Given the description of an element on the screen output the (x, y) to click on. 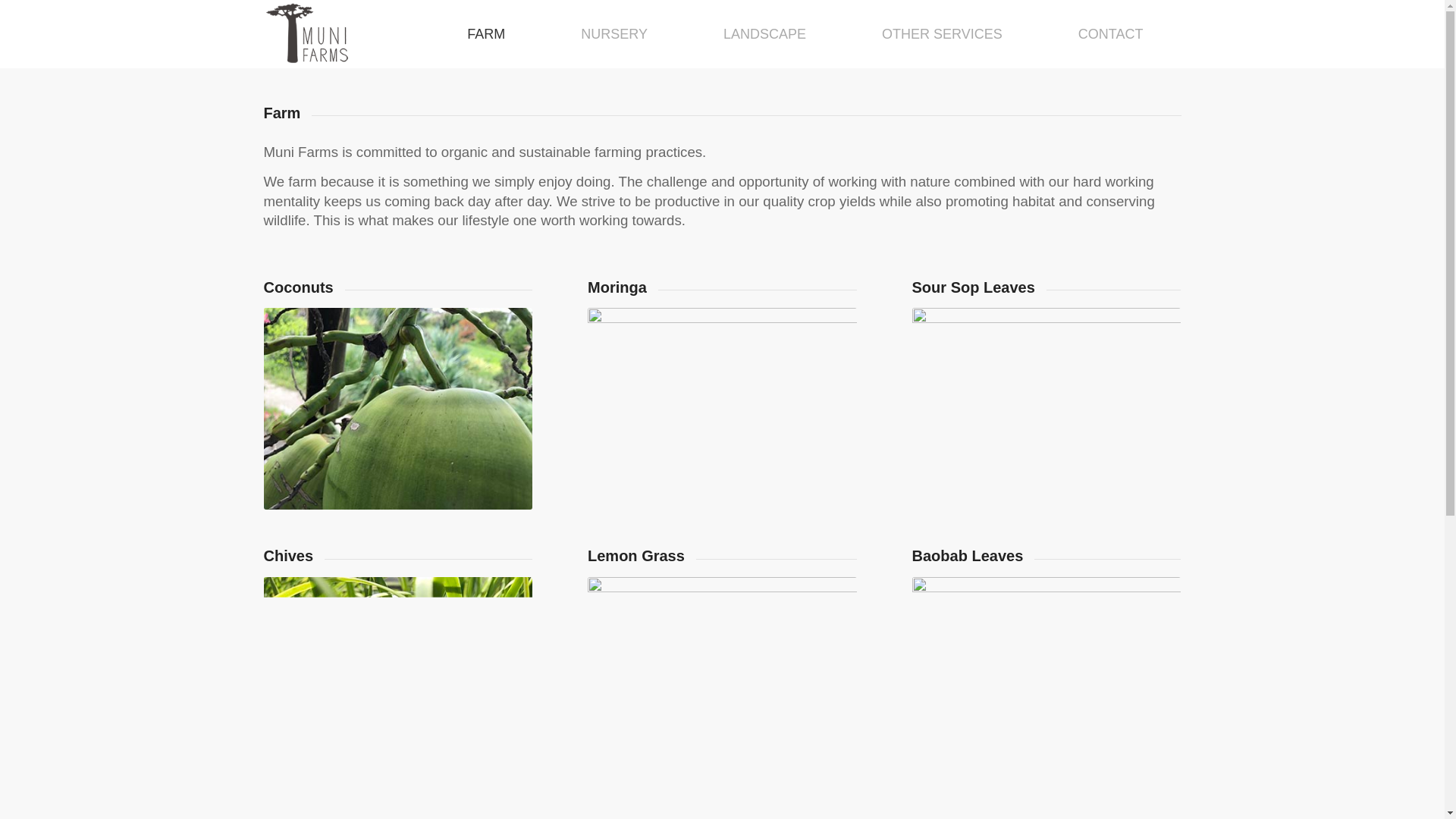
LANDSCAPE (764, 33)
OTHER SERVICES (942, 33)
Garlic Chives (397, 677)
Soursop Leaves (1046, 408)
NURSERY (614, 33)
Baobab Leaves (1046, 677)
Moringa (722, 408)
Coconuts (397, 408)
FARM (486, 33)
CONTACT (1110, 33)
Lemon Grass (722, 677)
